Given the description of an element on the screen output the (x, y) to click on. 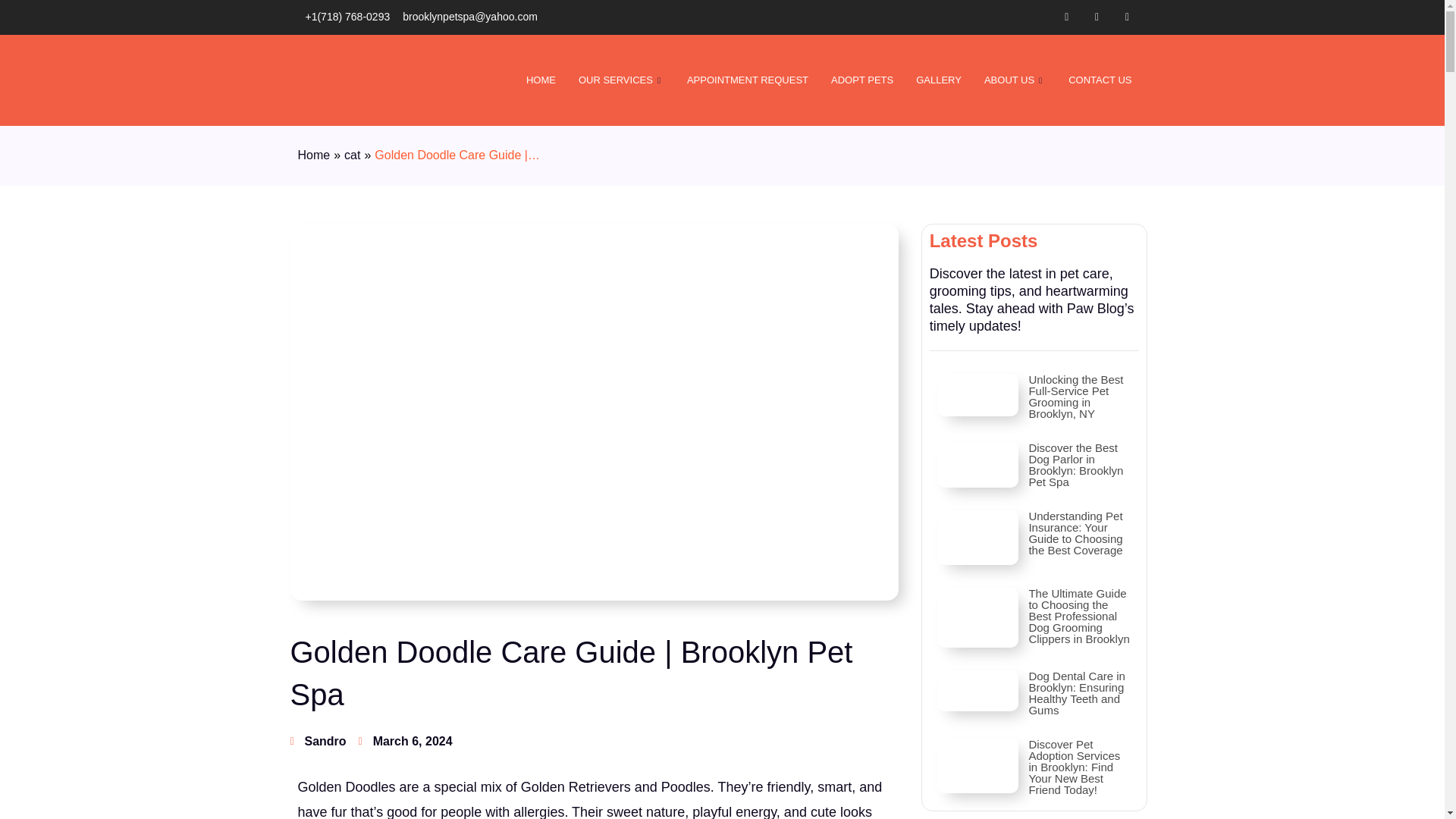
OUR SERVICES (621, 80)
Sandro (317, 741)
ABOUT US (1014, 80)
ADOPT PETS (861, 80)
CONTACT US (1099, 80)
cat (351, 154)
March 6, 2024 (405, 741)
HOME (541, 80)
APPOINTMENT REQUEST (747, 80)
GALLERY (938, 80)
Home (313, 155)
